Given the description of an element on the screen output the (x, y) to click on. 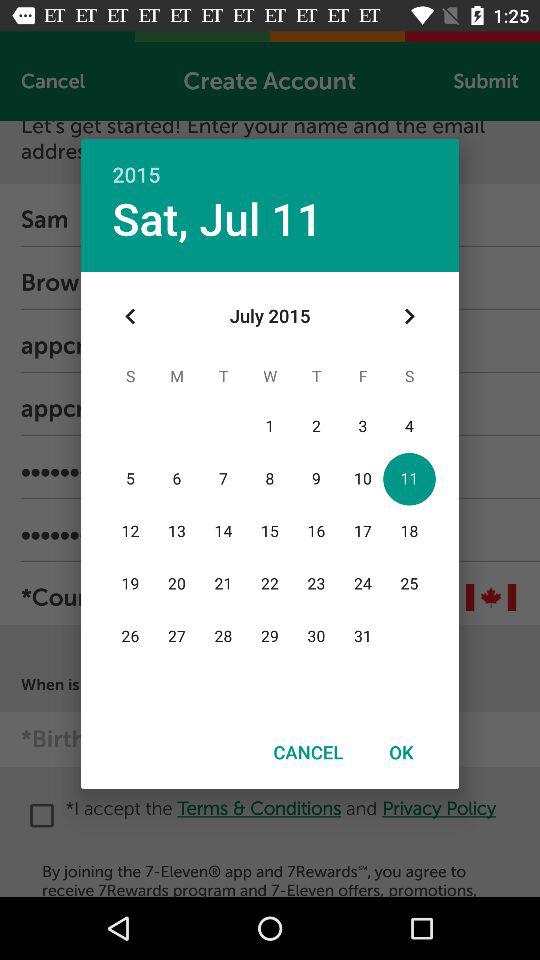
turn on the icon to the left of the ok (308, 751)
